Given the description of an element on the screen output the (x, y) to click on. 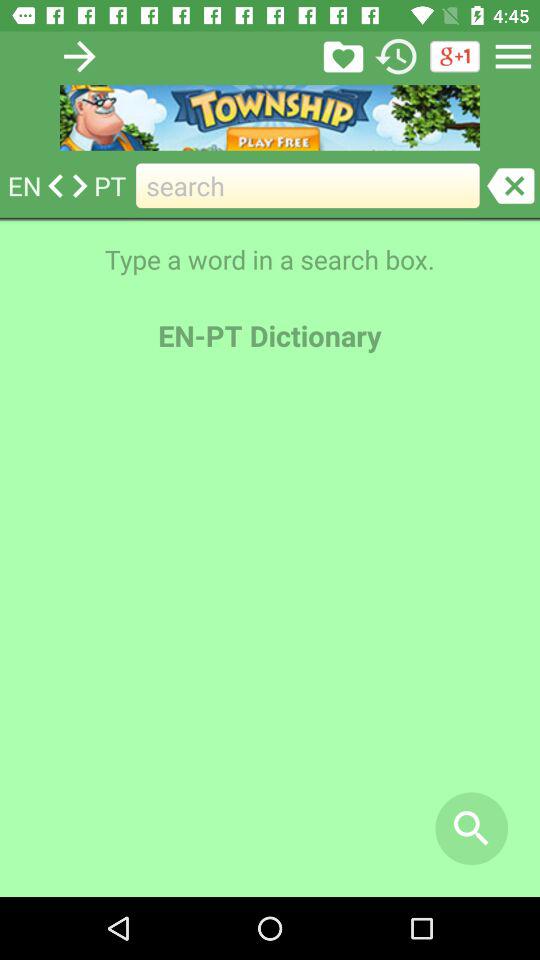
go do colosed (510, 185)
